Given the description of an element on the screen output the (x, y) to click on. 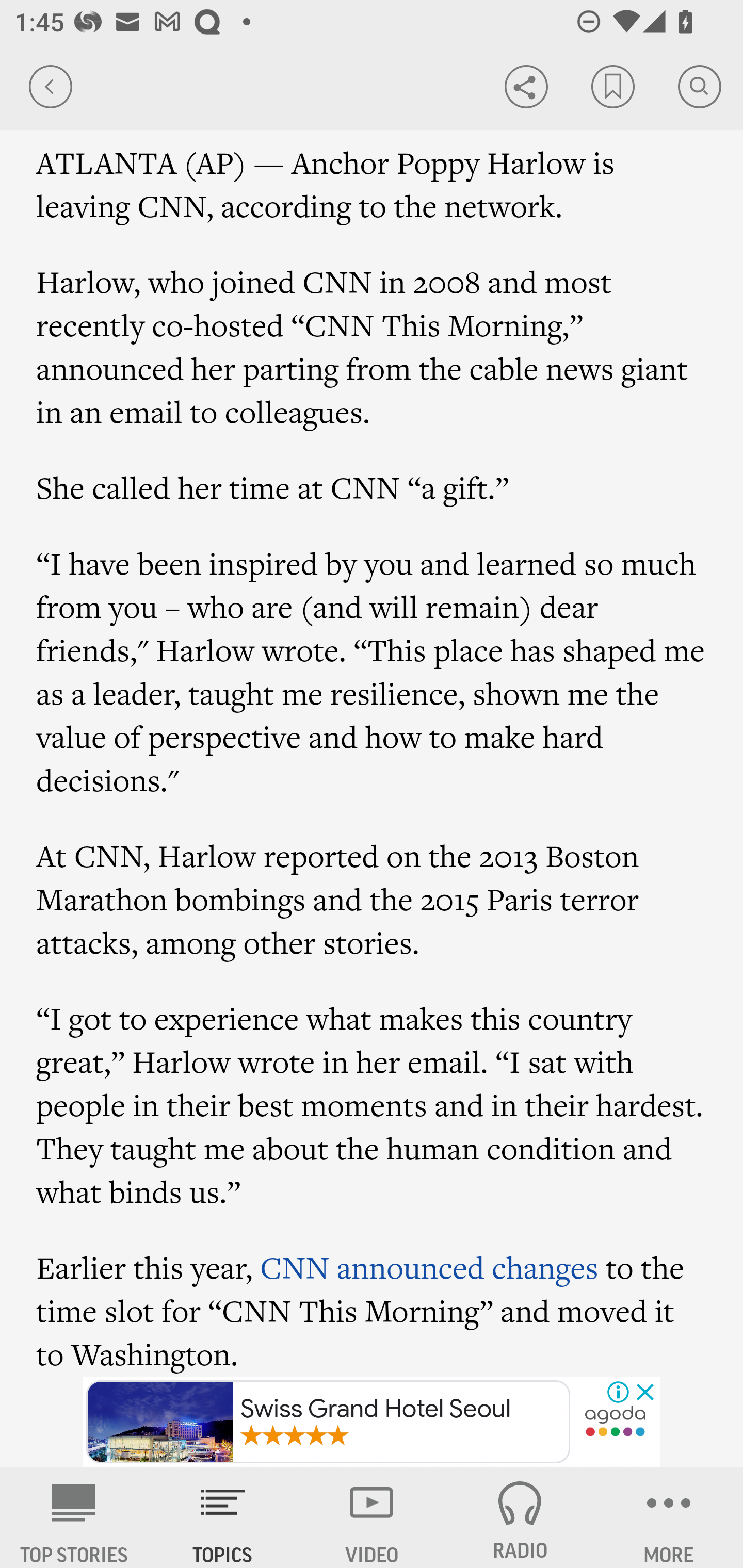
CNN announced changes (428, 1265)
Swiss Grand Hotel Seoul (327, 1421)
partnersearch (615, 1422)
AP News TOP STORIES (74, 1517)
TOPICS (222, 1517)
VIDEO (371, 1517)
RADIO (519, 1517)
MORE (668, 1517)
